Given the description of an element on the screen output the (x, y) to click on. 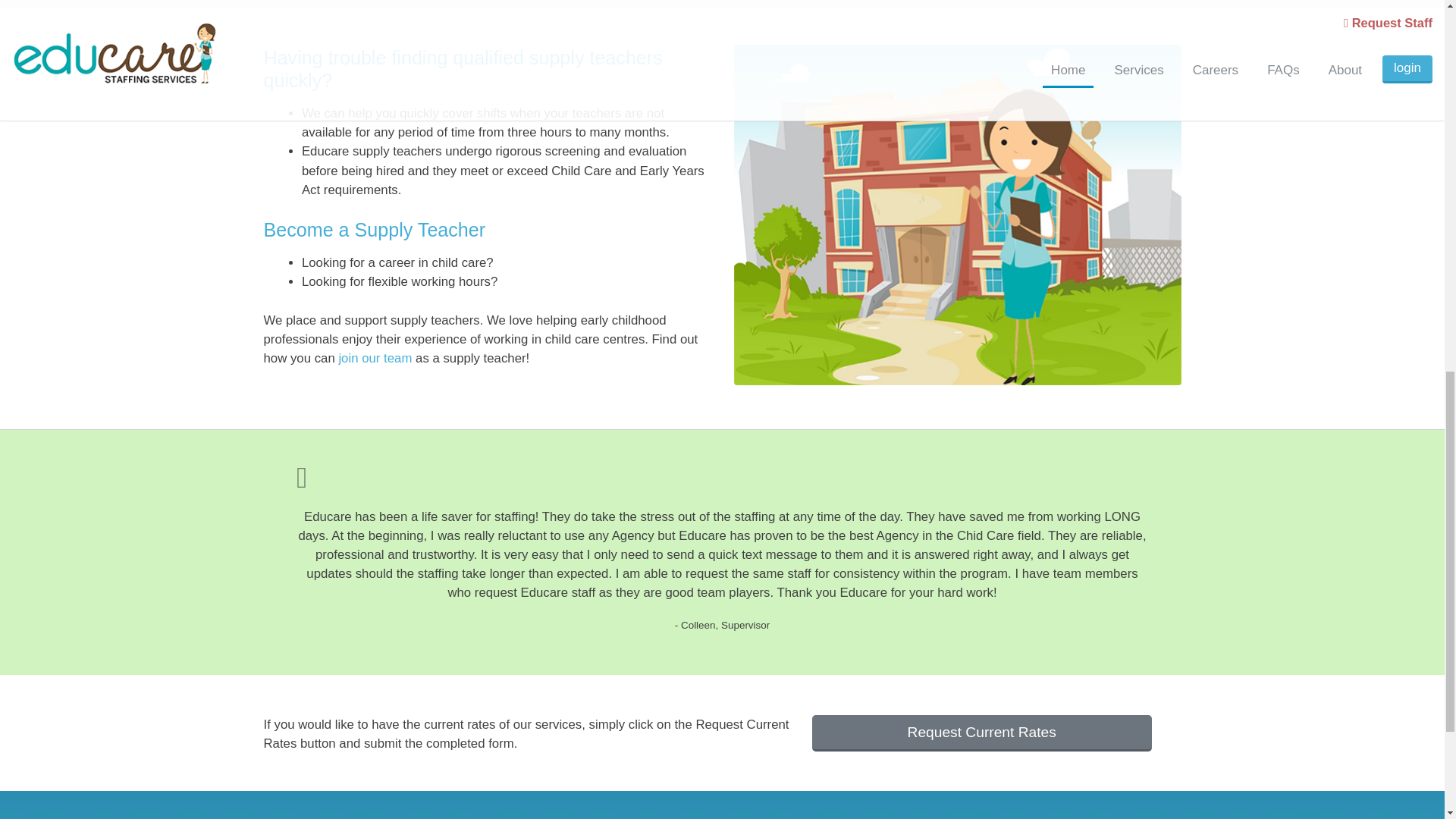
join our team (374, 358)
Become a Supply Teacher (487, 229)
Having trouble finding qualified supply teachers quickly? (487, 68)
Request Current Rates (981, 733)
